Given the description of an element on the screen output the (x, y) to click on. 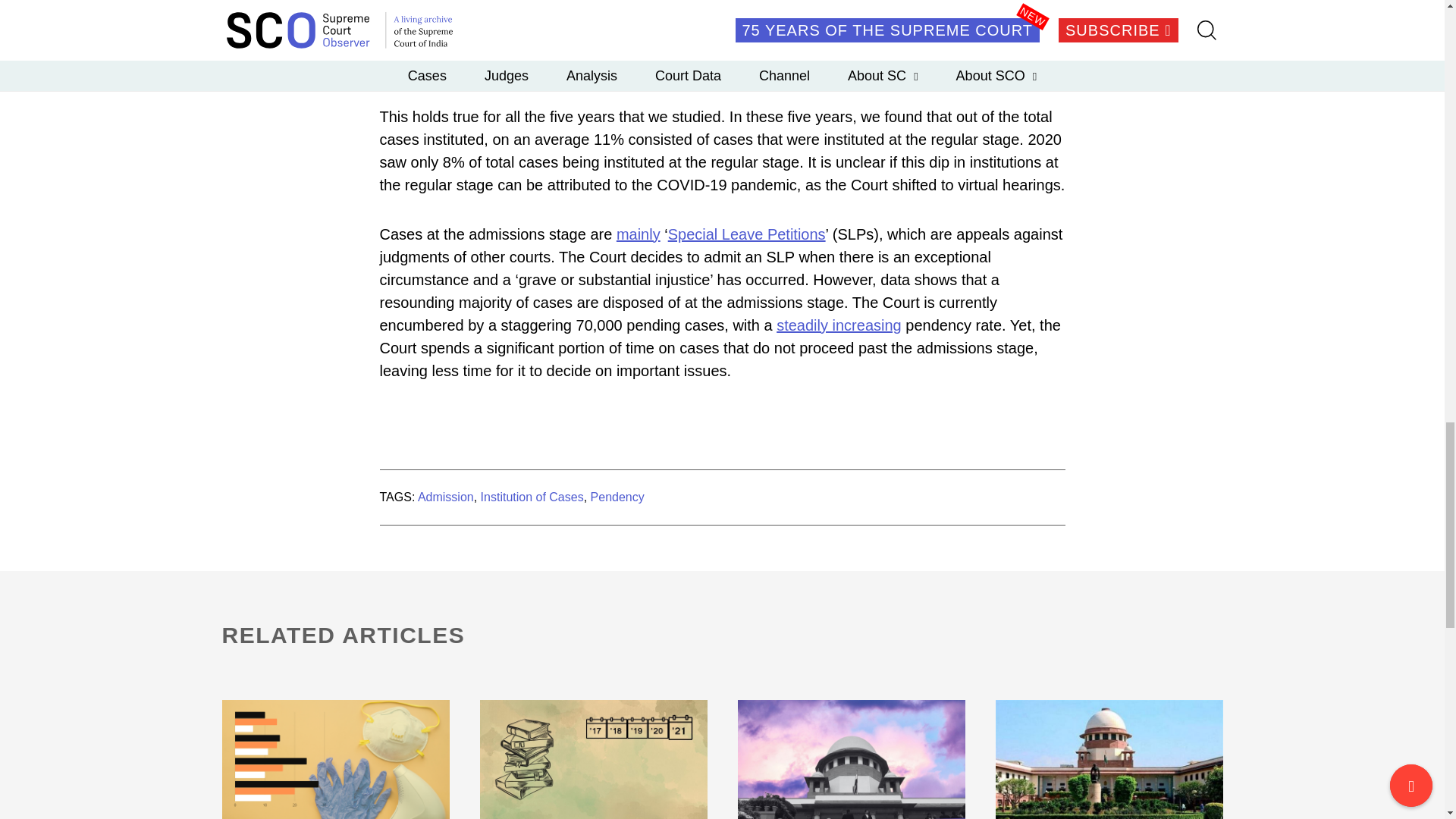
Special Leave Petitions (746, 234)
mainly (638, 234)
steadily increasing (838, 324)
Admission (445, 496)
Pendency (618, 496)
Institution of Cases (531, 496)
